Given the description of an element on the screen output the (x, y) to click on. 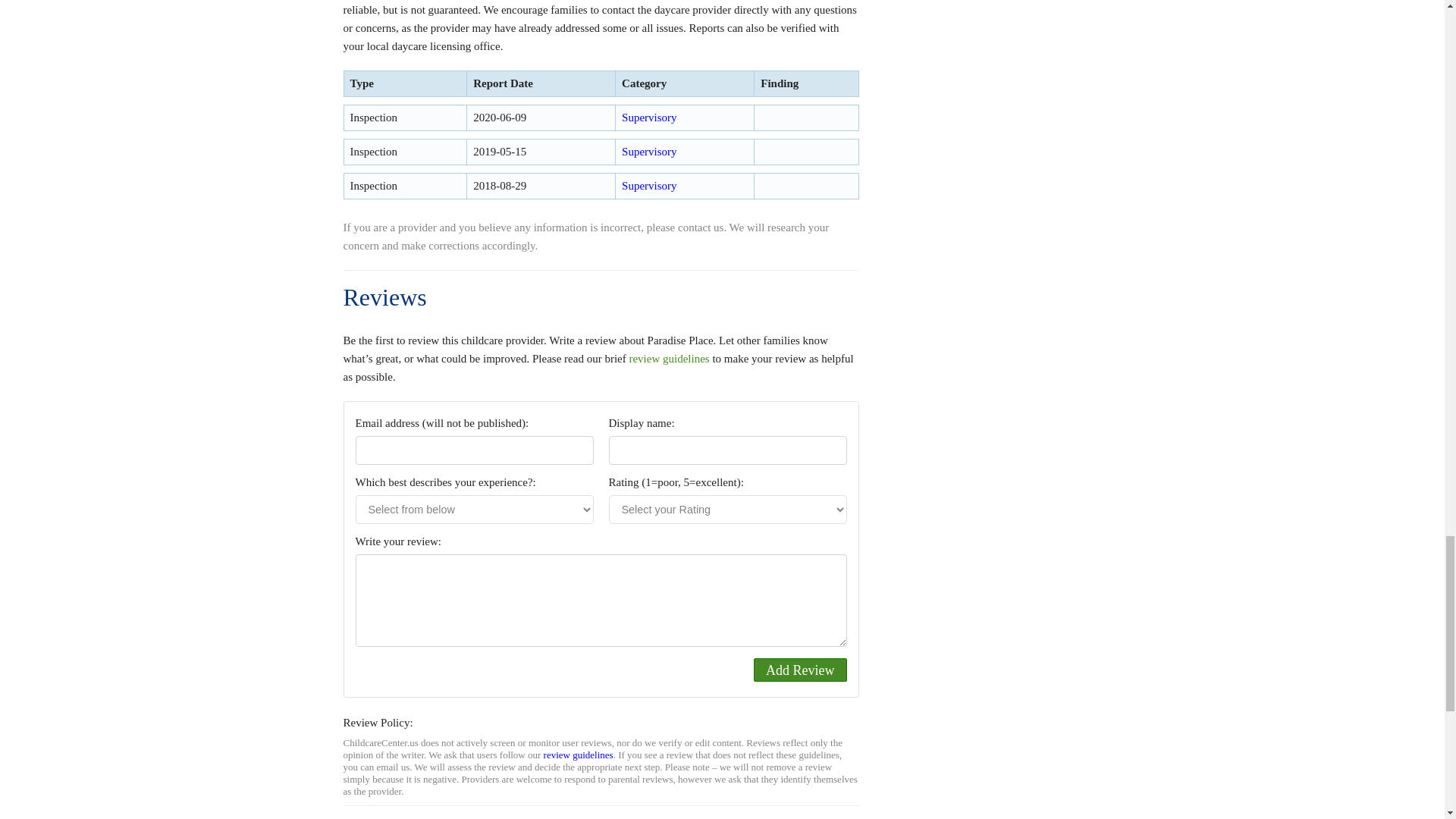
Add Review (799, 669)
Supervisory (649, 185)
Add Review (799, 669)
review guidelines (577, 754)
review guidelines (668, 358)
Supervisory (649, 117)
Supervisory (649, 151)
